Given the description of an element on the screen output the (x, y) to click on. 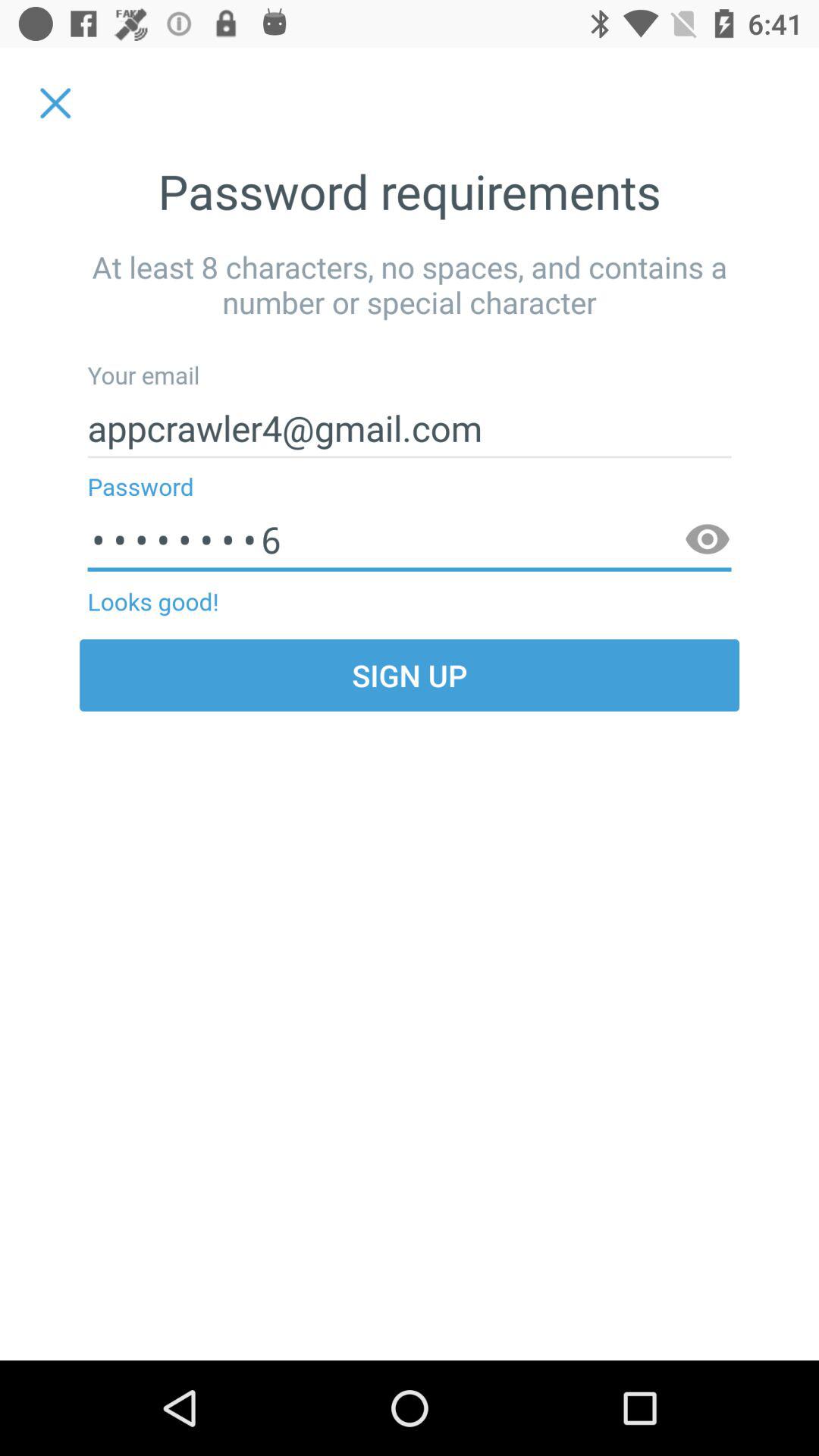
flip to appcrawler4@gmail.com (409, 428)
